Given the description of an element on the screen output the (x, y) to click on. 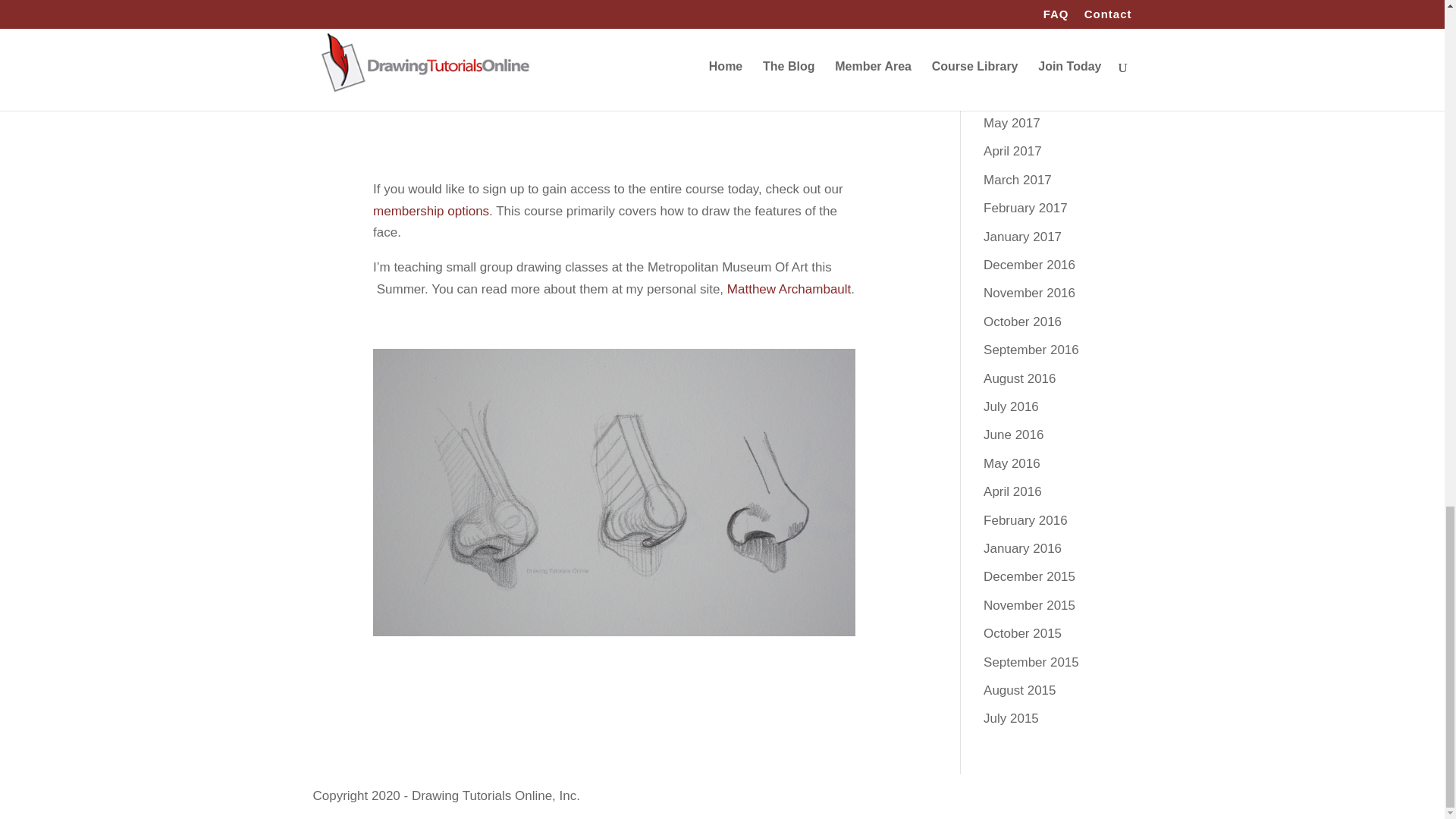
How To Draw The Structure Of The Nose (614, 65)
membership options (430, 210)
Matthew Archambault (788, 288)
